Given the description of an element on the screen output the (x, y) to click on. 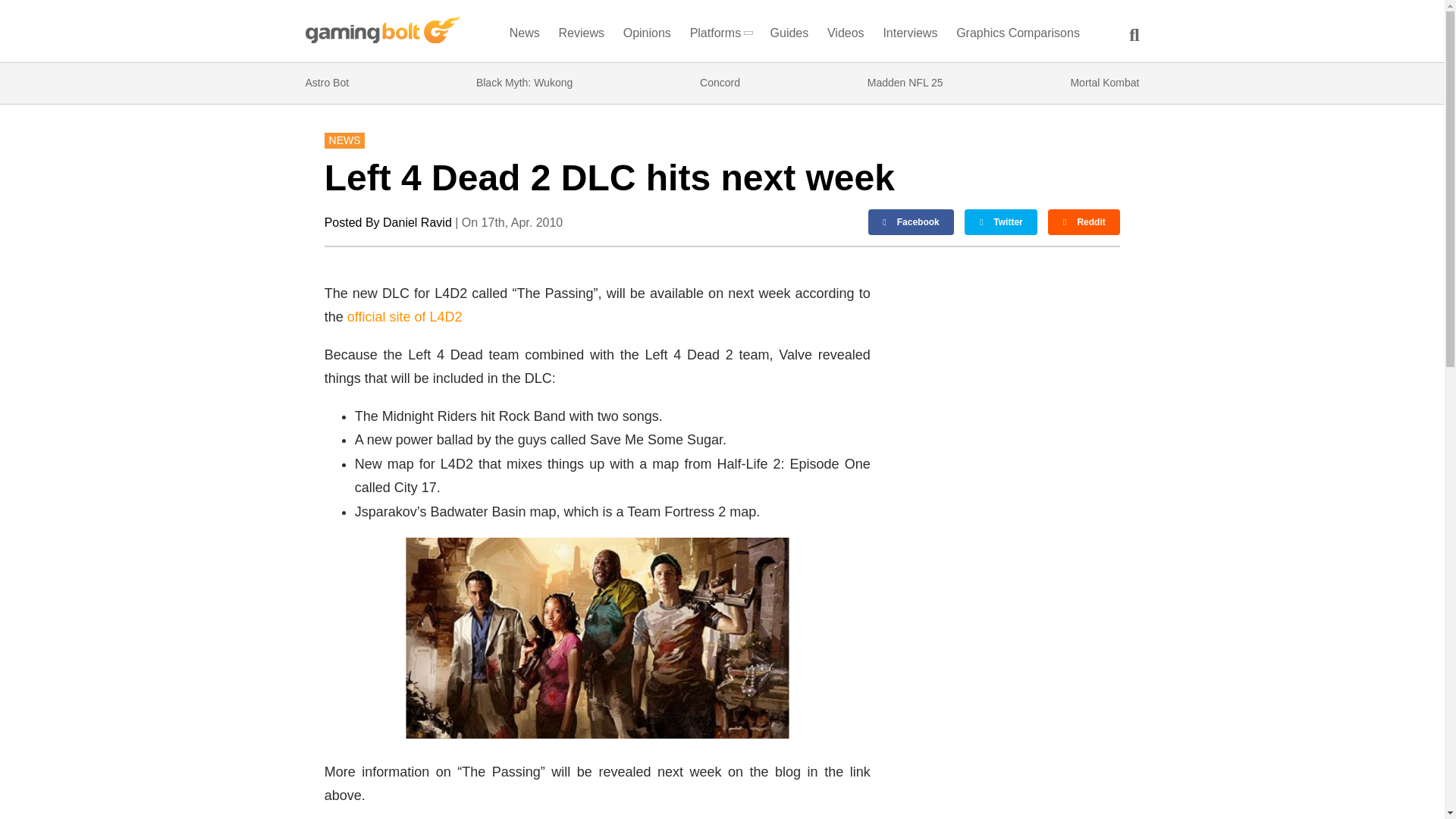
Reviews (581, 36)
Platforms (720, 36)
Concord (719, 82)
Mortal Kombat (1104, 82)
Black Myth: Wukong (524, 82)
Videos (845, 36)
official site of L4D2 (405, 316)
Guides (789, 36)
Astro Bot (326, 82)
Facebook (911, 222)
